Given the description of an element on the screen output the (x, y) to click on. 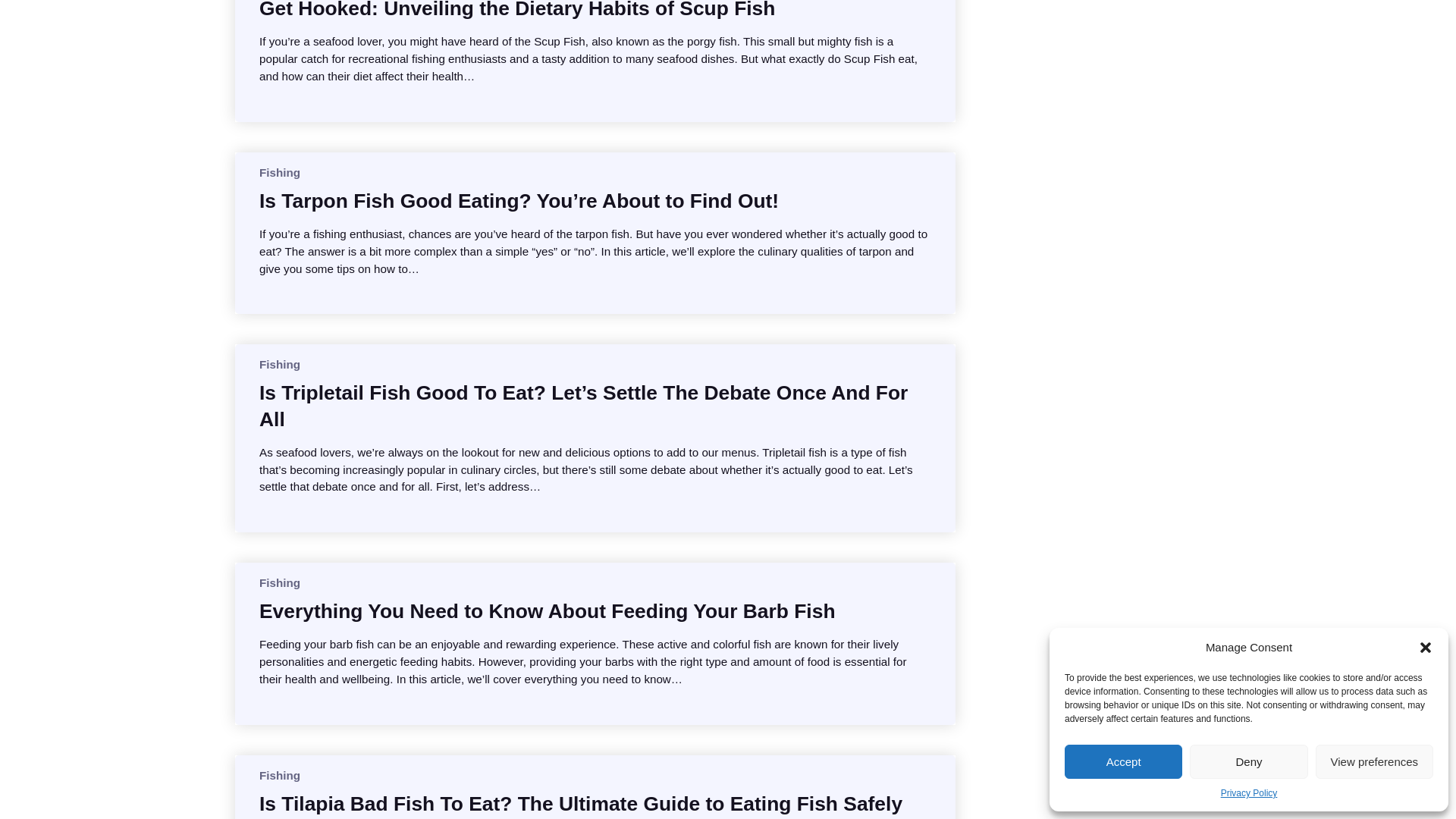
Fishing (279, 172)
Fishing (279, 364)
Fishing (279, 775)
Everything You Need to Know About Feeding Your Barb Fish (547, 611)
Get Hooked: Unveiling the Dietary Habits of Scup Fish (516, 10)
Fishing (279, 582)
